Given the description of an element on the screen output the (x, y) to click on. 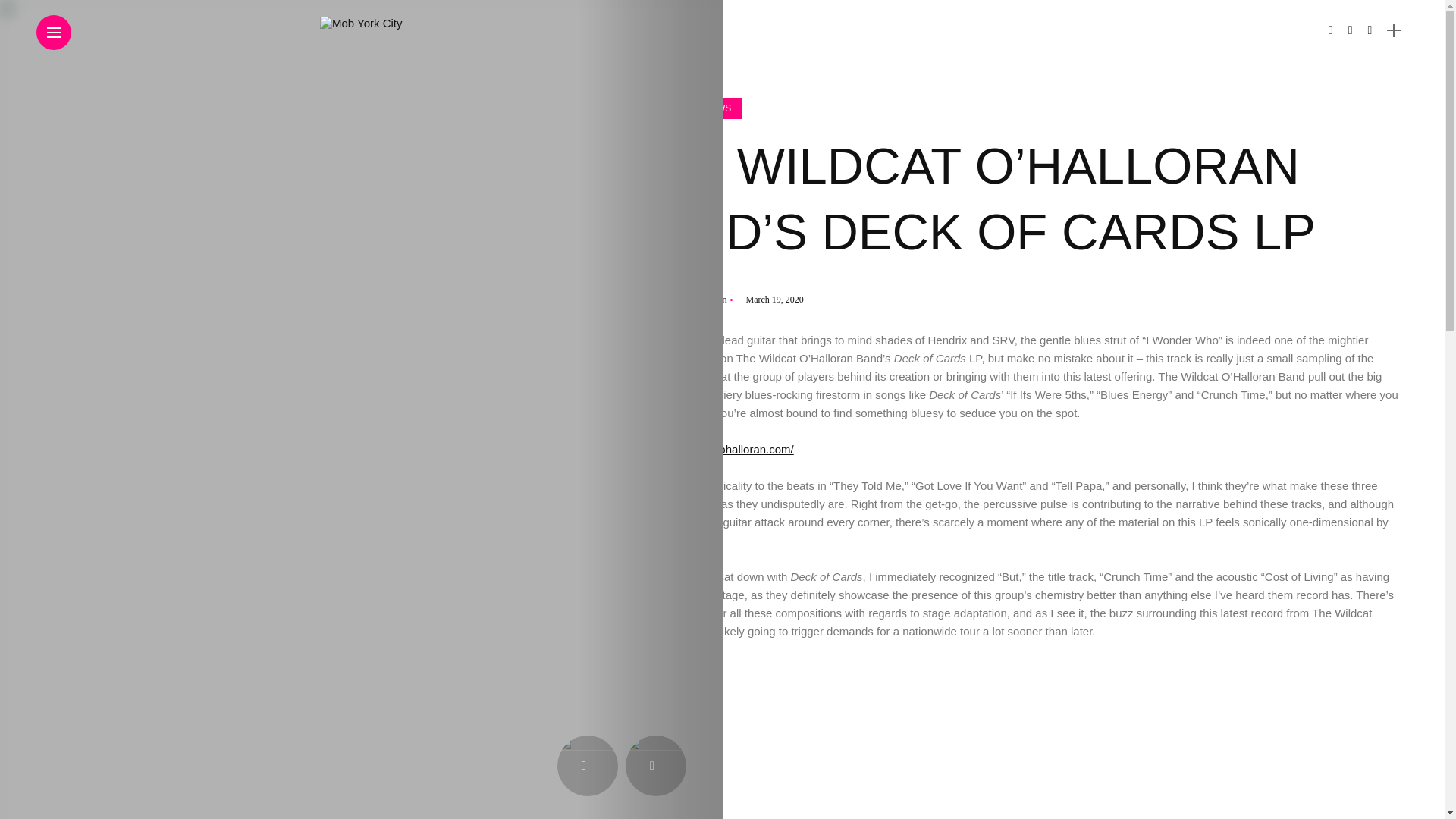
REVIEWS (710, 107)
Spotify Embed: The Wildcat OHalloran band (1010, 739)
Posts by Nicole Killian (695, 299)
MUSIC (646, 107)
Nicole Killian (695, 299)
